Given the description of an element on the screen output the (x, y) to click on. 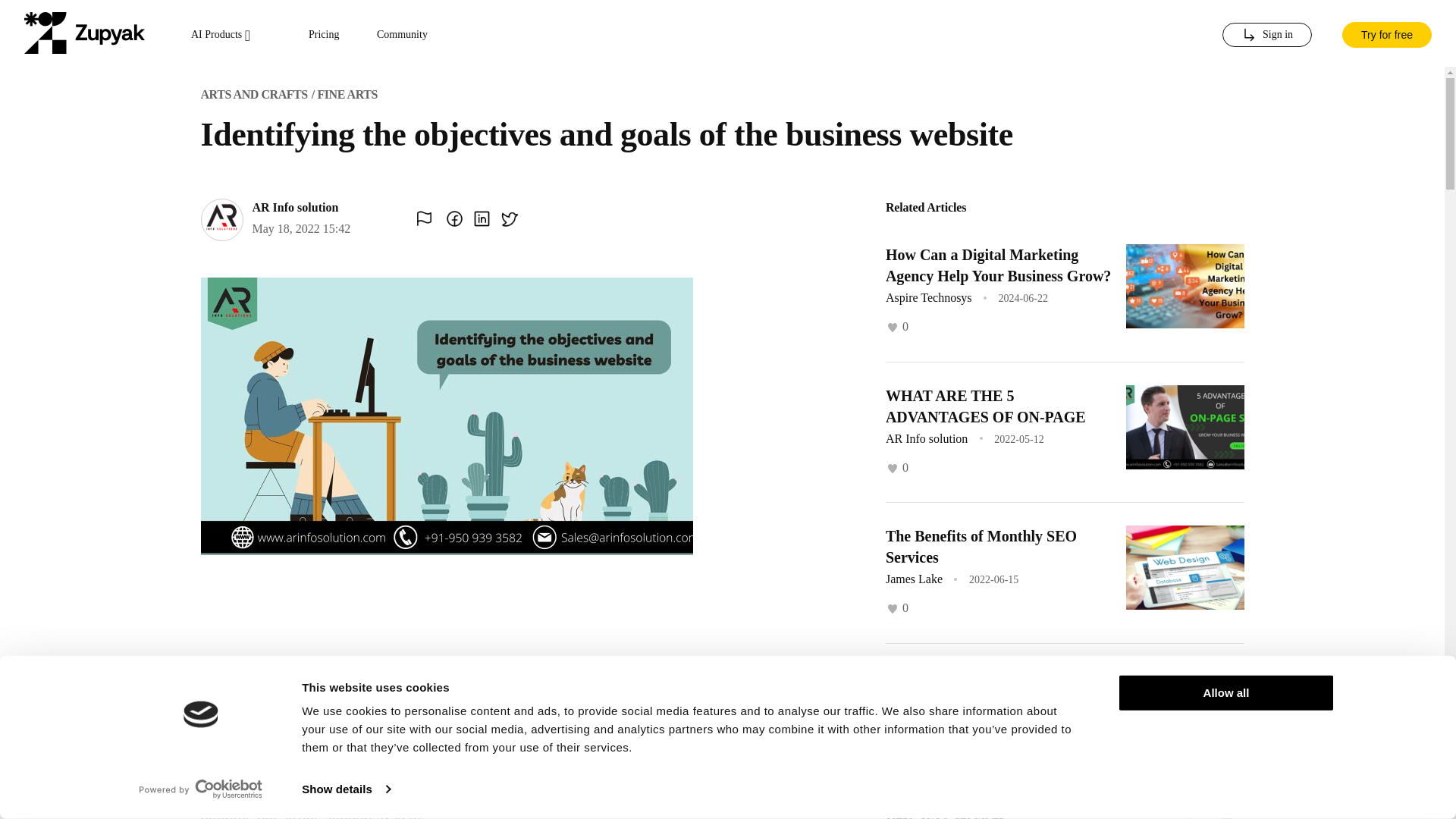
Best SEO Services (944, 814)
Digital Marketing And Web Development services in Pune (981, 687)
Show details (345, 789)
WHAT ARE THE 5 ADVANTAGES OF ON-PAGE SEO? (985, 415)
The Benefits of Monthly SEO Services (981, 546)
How Can a Digital Marketing Agency Help Your Business Grow? (997, 265)
